Given the description of an element on the screen output the (x, y) to click on. 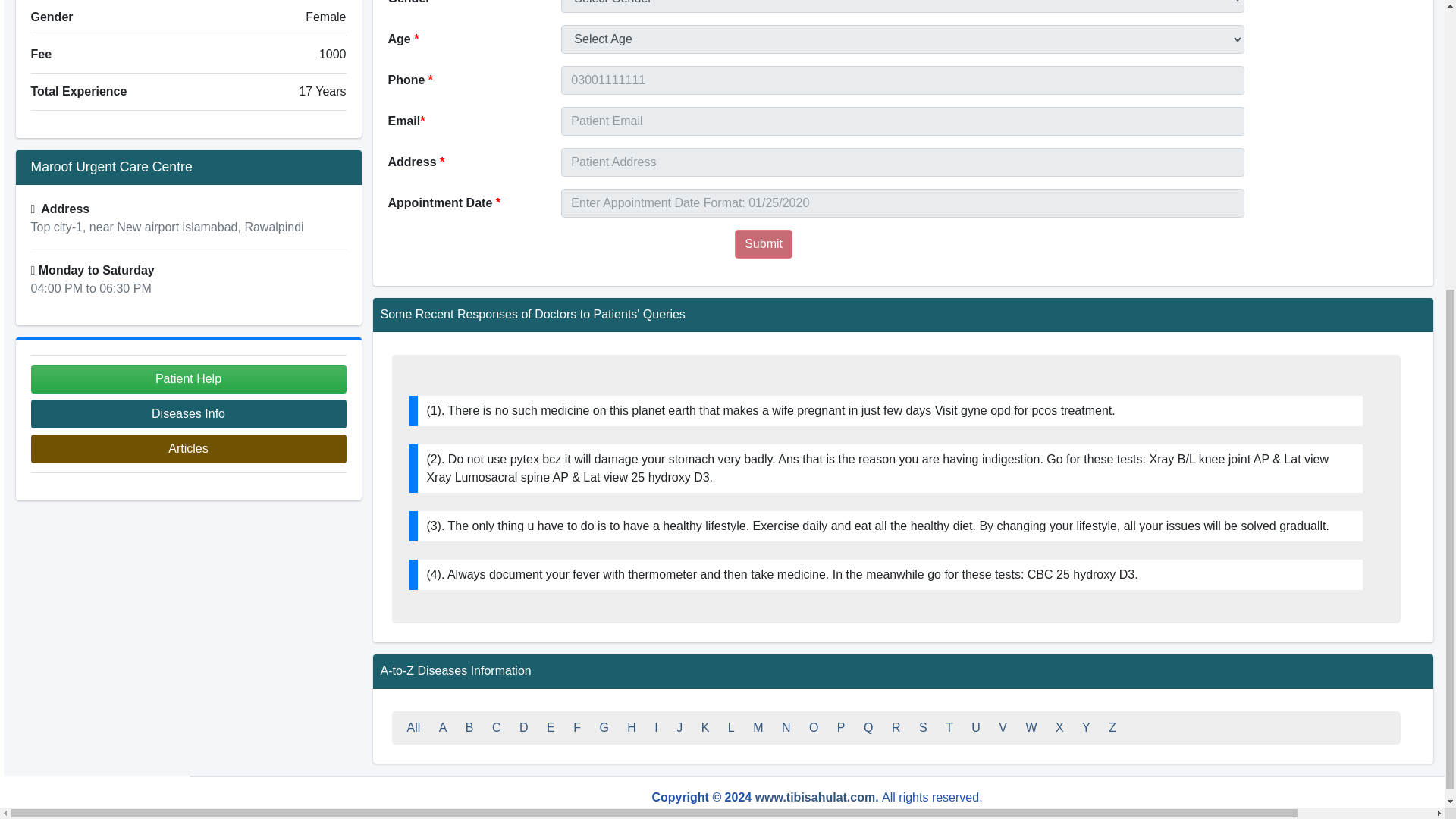
All (413, 727)
Disease start with M (757, 727)
Articles (188, 448)
All Diseases (413, 727)
M (757, 727)
www.tibisahulat.com (815, 797)
Submit (763, 244)
Diseases Info (188, 413)
Patient Help (188, 378)
W (1030, 727)
